Given the description of an element on the screen output the (x, y) to click on. 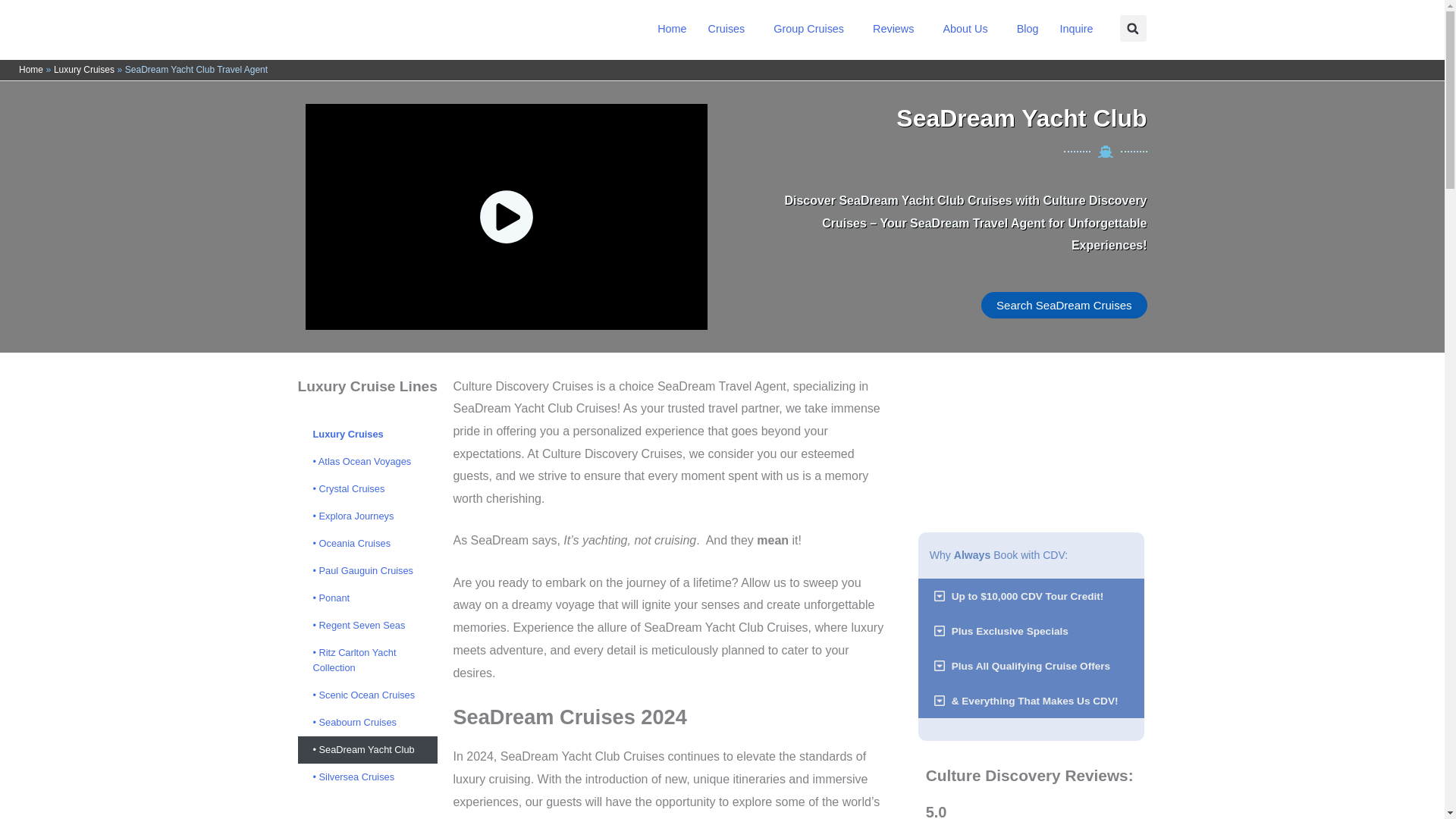
Seadream Yacht Club Travel Agent 2 (1031, 438)
Home (671, 28)
Cruises (729, 28)
